Given the description of an element on the screen output the (x, y) to click on. 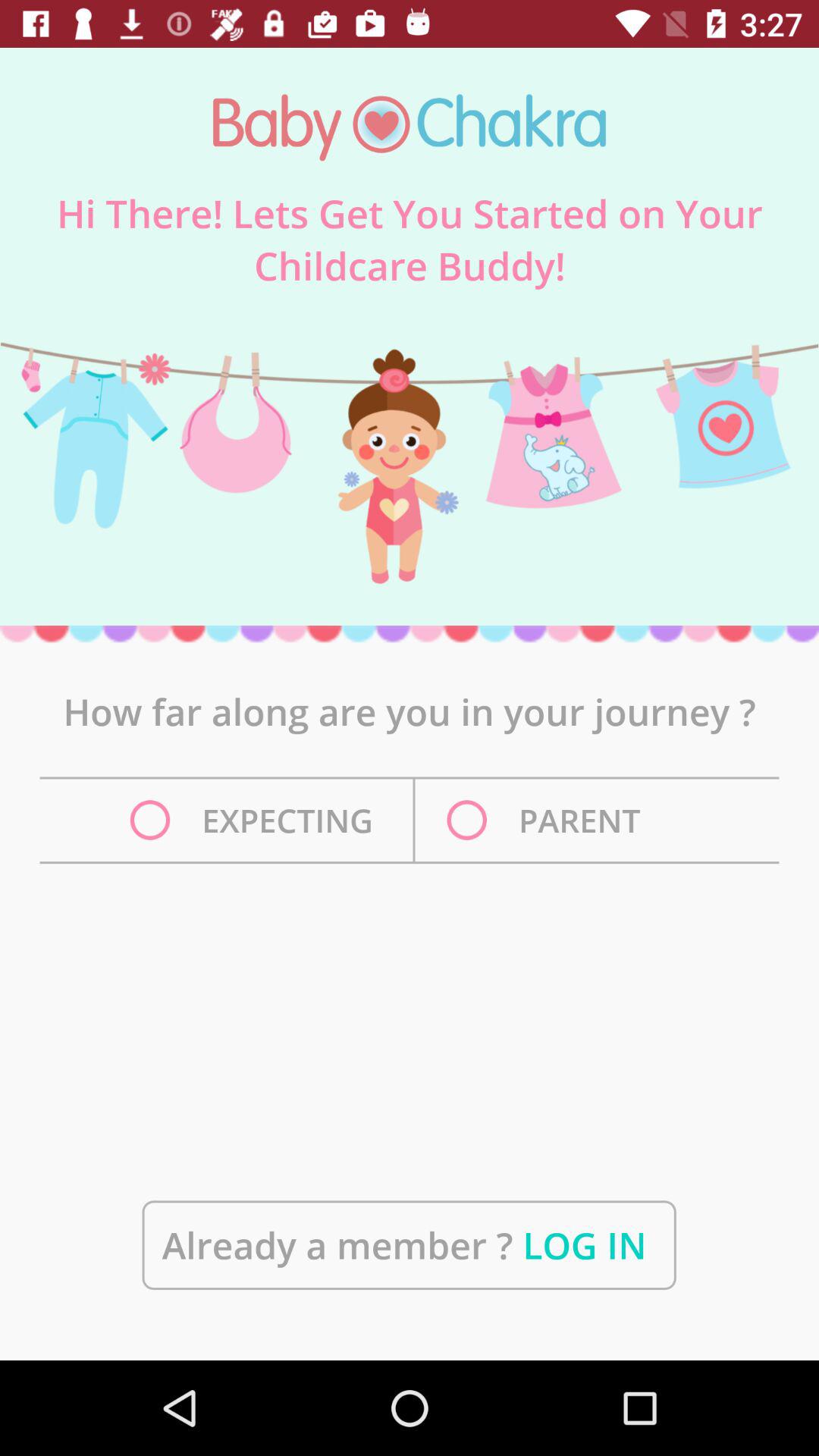
swipe to the already a member (409, 1244)
